Given the description of an element on the screen output the (x, y) to click on. 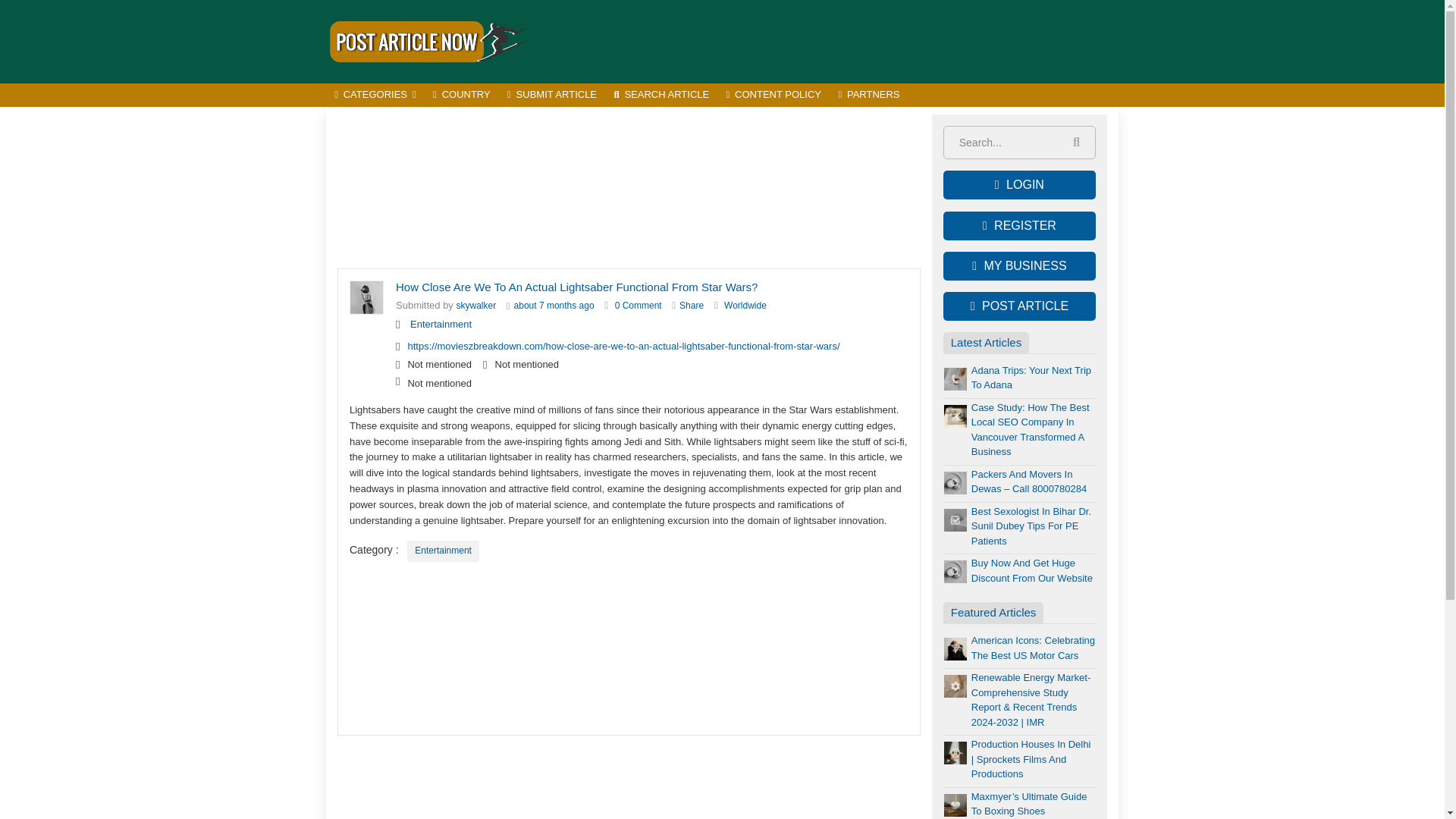
Worldwide (745, 305)
Entertainment (440, 324)
Entertainment (440, 324)
COUNTRY (462, 95)
REGISTER (1019, 225)
Share (691, 305)
Advertisement (628, 187)
skywalker (476, 305)
LOGIN (1019, 184)
